Given the description of an element on the screen output the (x, y) to click on. 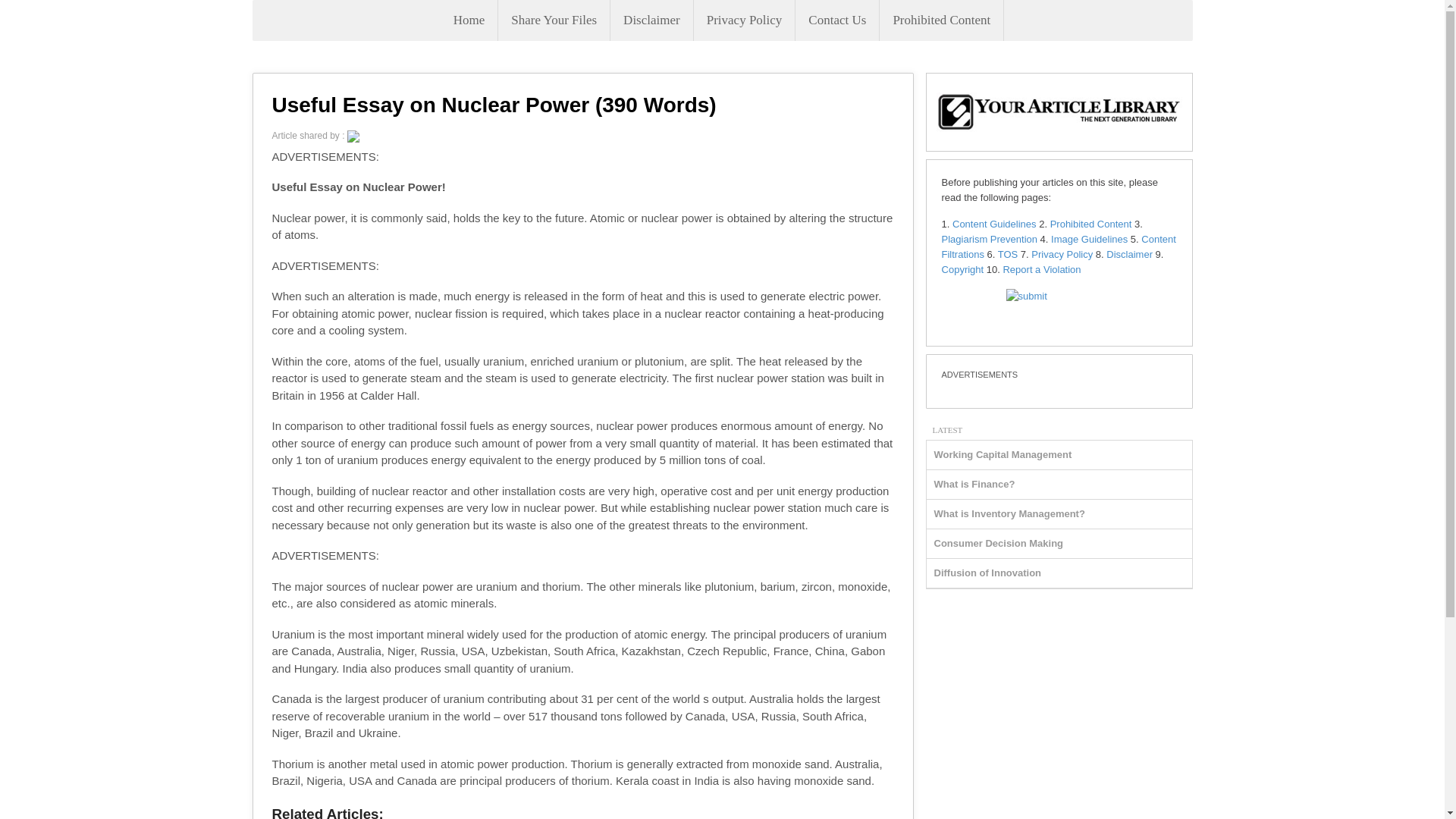
Diffusion of Innovation (988, 572)
Home (469, 20)
Contact Us (836, 20)
Plagiarism Prevention (989, 238)
Disclaimer (1129, 254)
Report a Violation (1041, 269)
Content Guidelines (994, 224)
Content Filtrations (1059, 246)
What is Inventory Management? (1009, 513)
Image Guidelines (1088, 238)
